Given the description of an element on the screen output the (x, y) to click on. 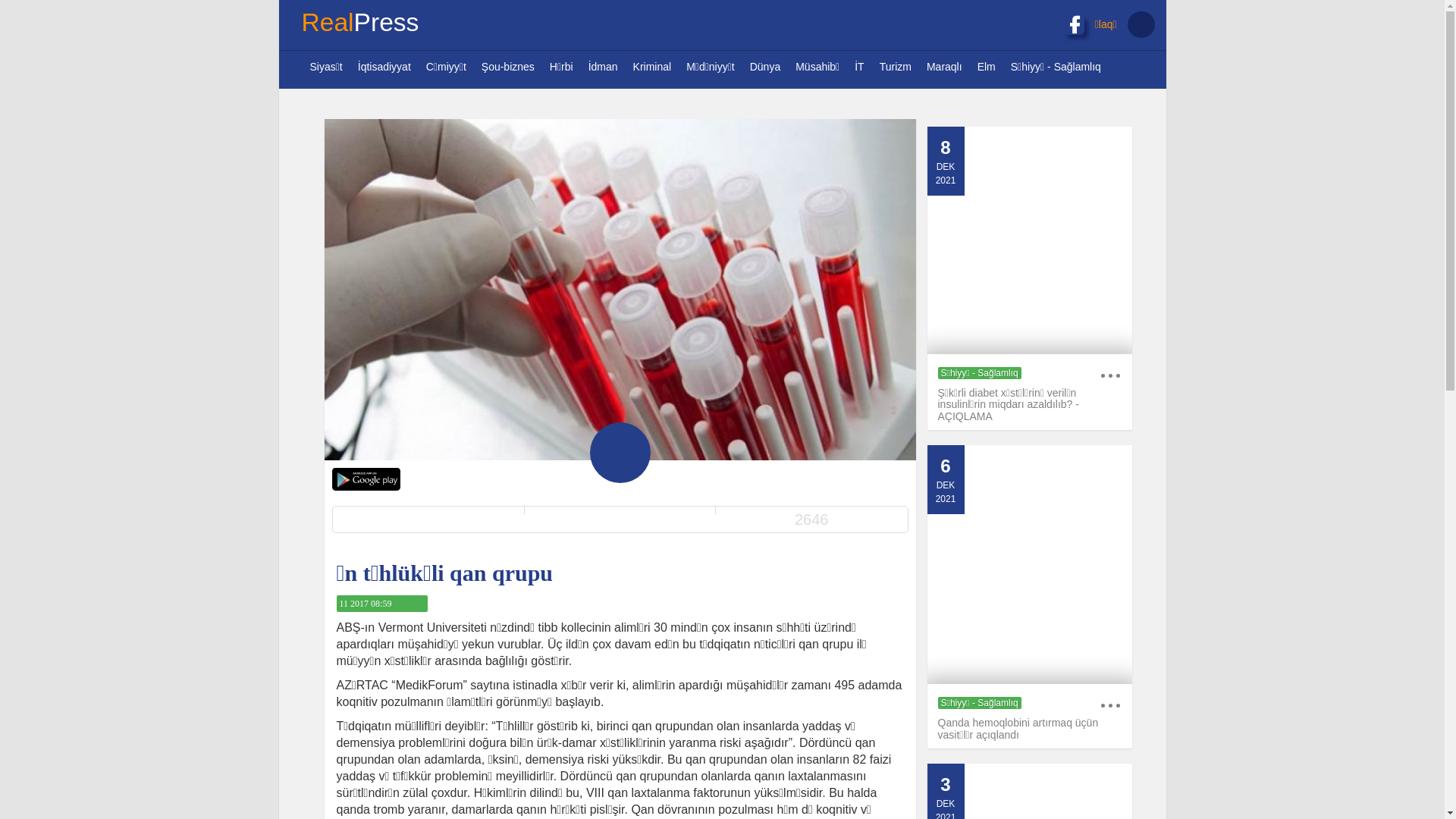
Turizm Element type: text (895, 66)
Elm Element type: text (986, 66)
Kriminal Element type: text (652, 66)
2646 Element type: text (811, 519)
RealPress Element type: text (359, 25)
